Given the description of an element on the screen output the (x, y) to click on. 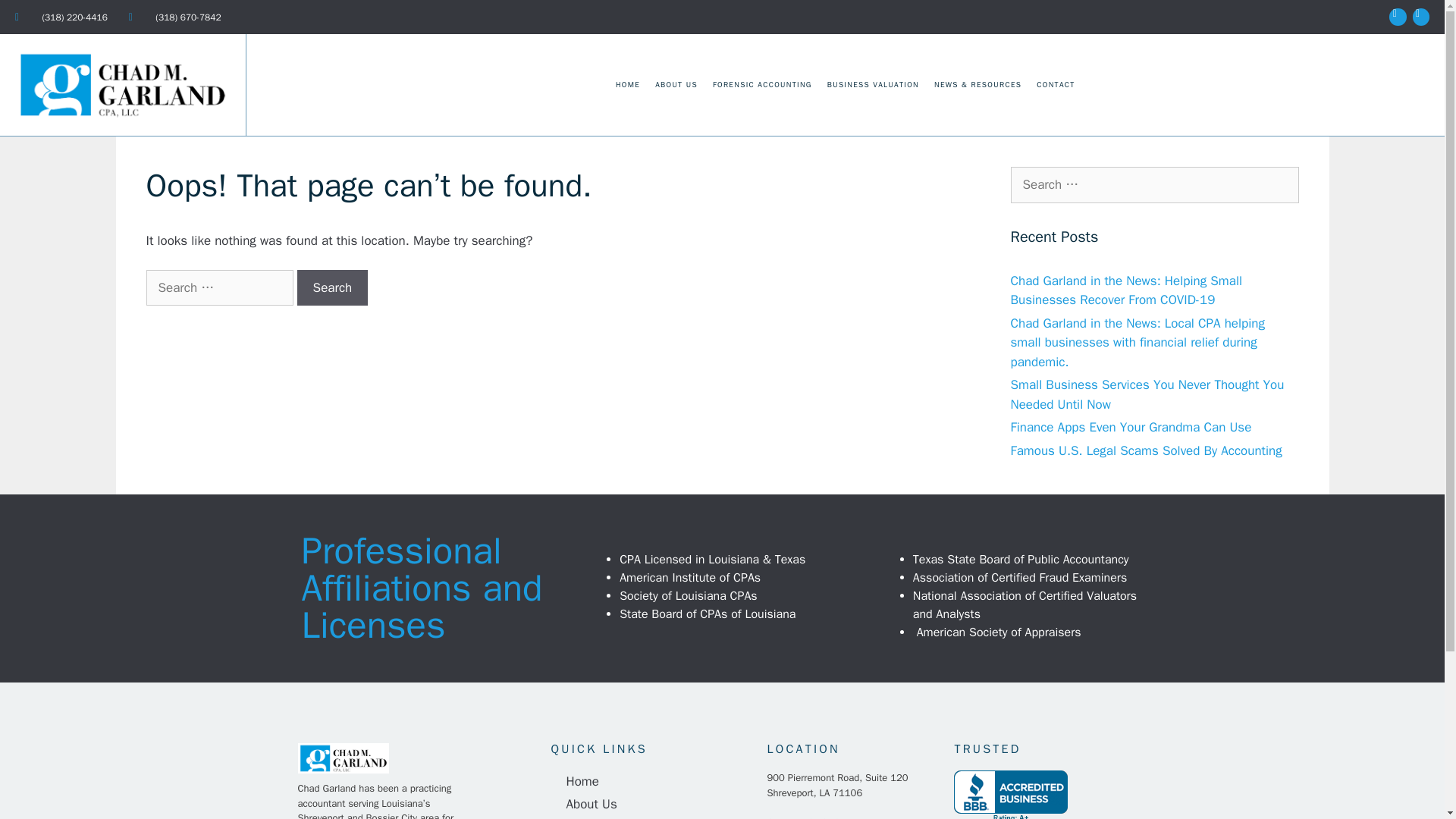
Search (332, 288)
Search (332, 288)
GET DIRECTIONS (803, 817)
Search (35, 18)
Finance Apps Even Your Grandma Can Use (1130, 426)
About Us (650, 804)
ABOUT US (675, 84)
CONTACT (1055, 84)
